Given the description of an element on the screen output the (x, y) to click on. 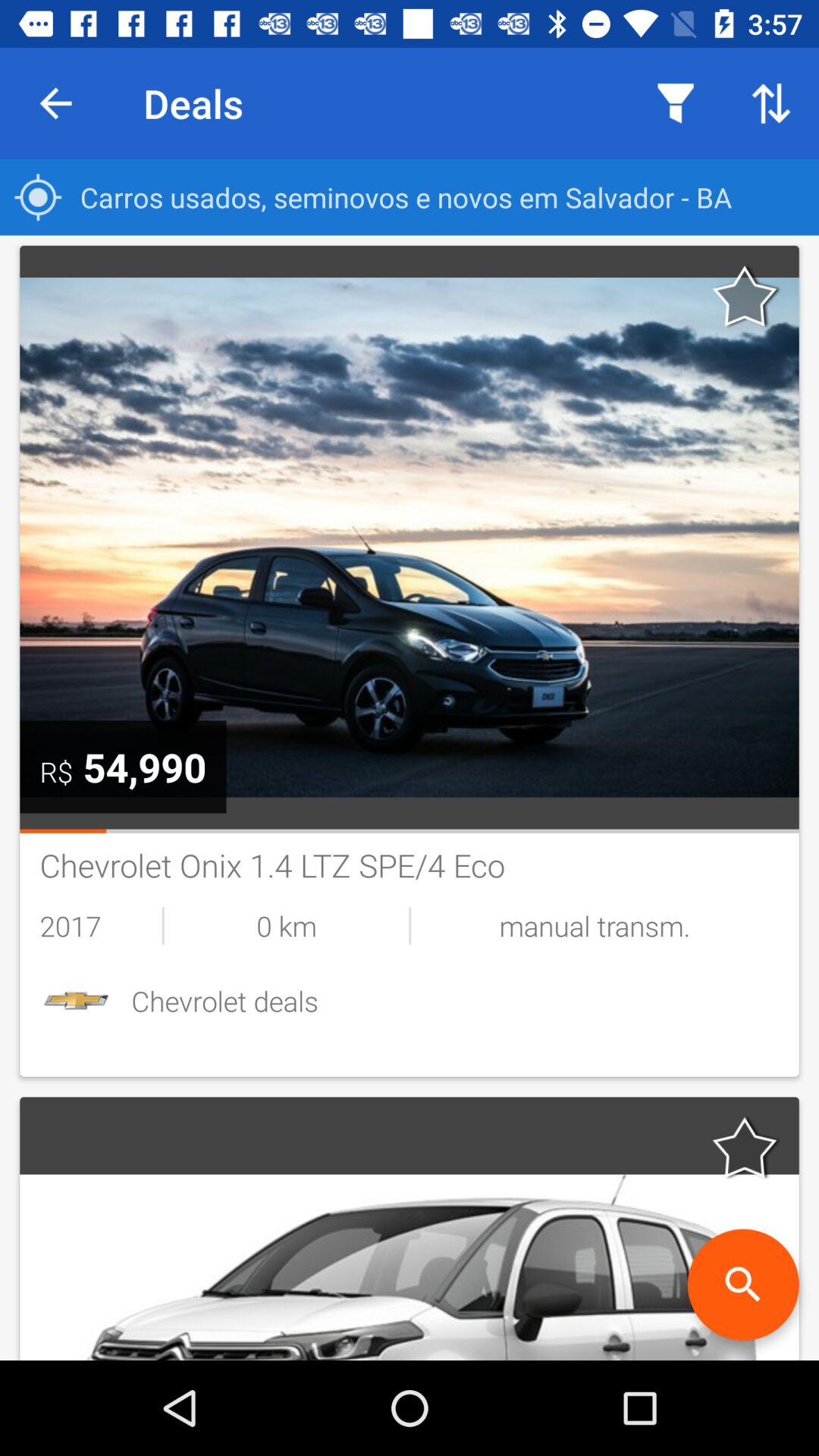
select the item above the carros usados seminovos (675, 103)
